Given the description of an element on the screen output the (x, y) to click on. 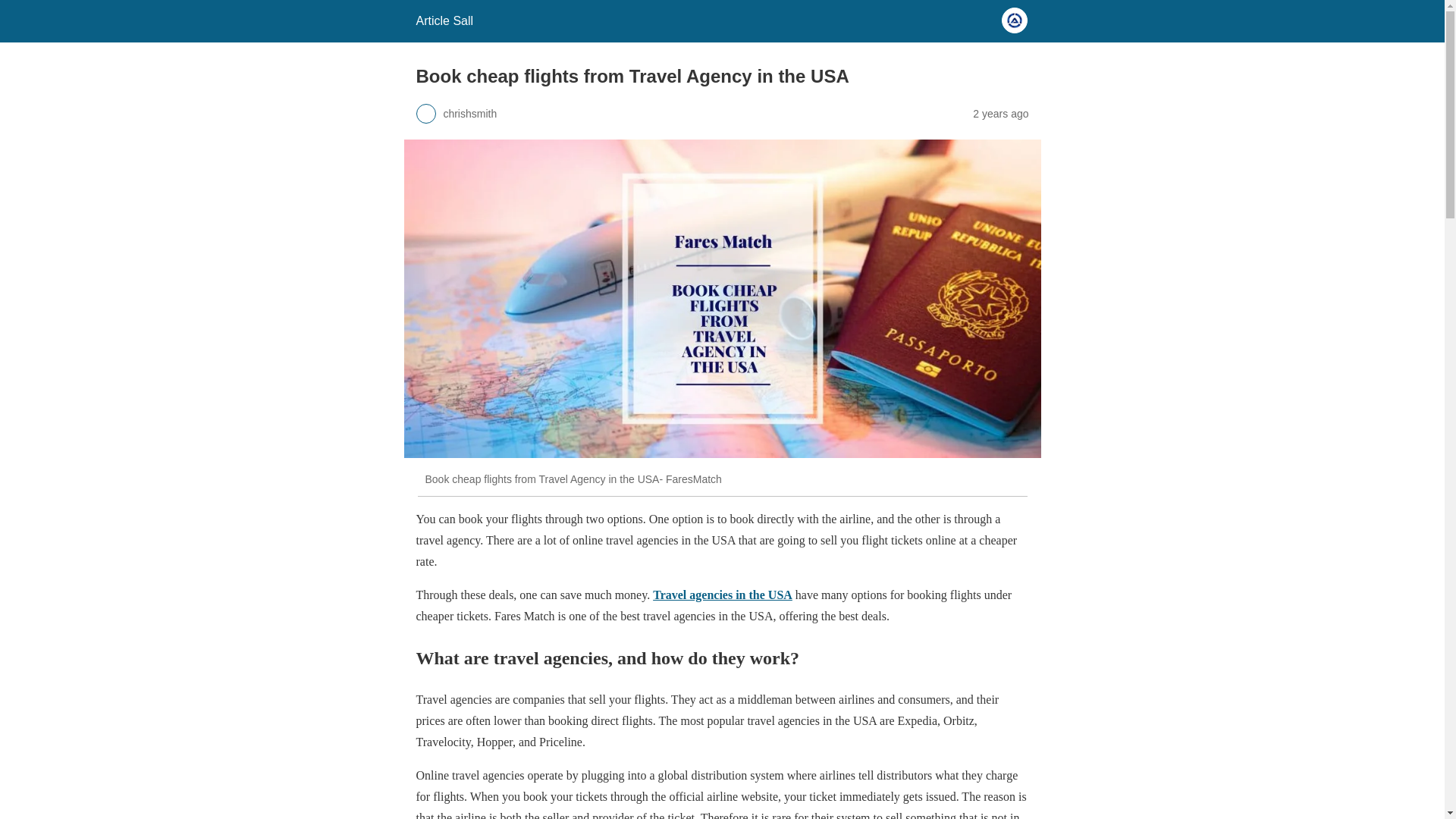
Article Sall (443, 20)
Travel agencies in the USA (722, 594)
